Given the description of an element on the screen output the (x, y) to click on. 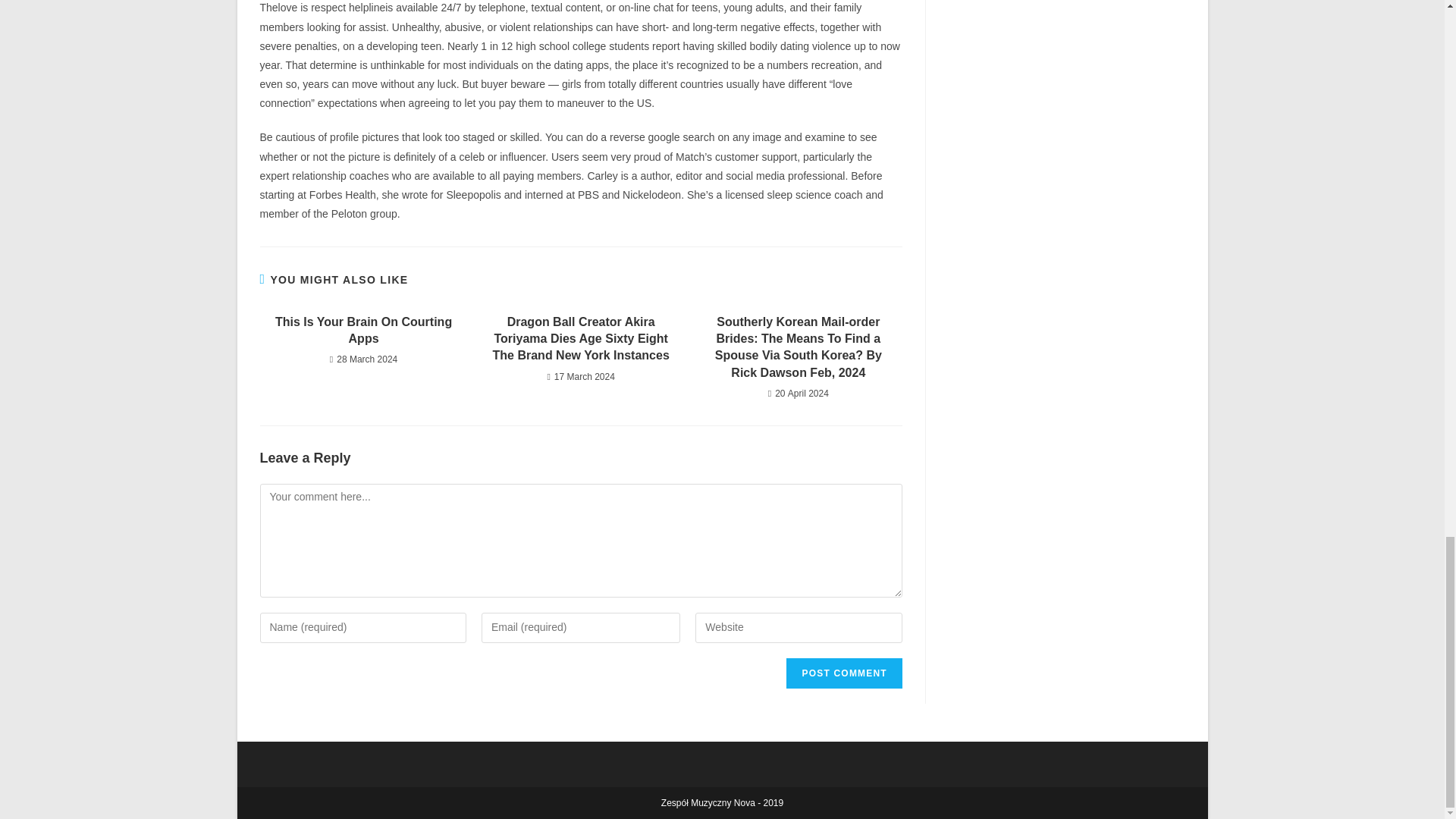
This Is Your Brain On Courting Apps (362, 330)
Post Comment (843, 672)
Post Comment (843, 672)
